Given the description of an element on the screen output the (x, y) to click on. 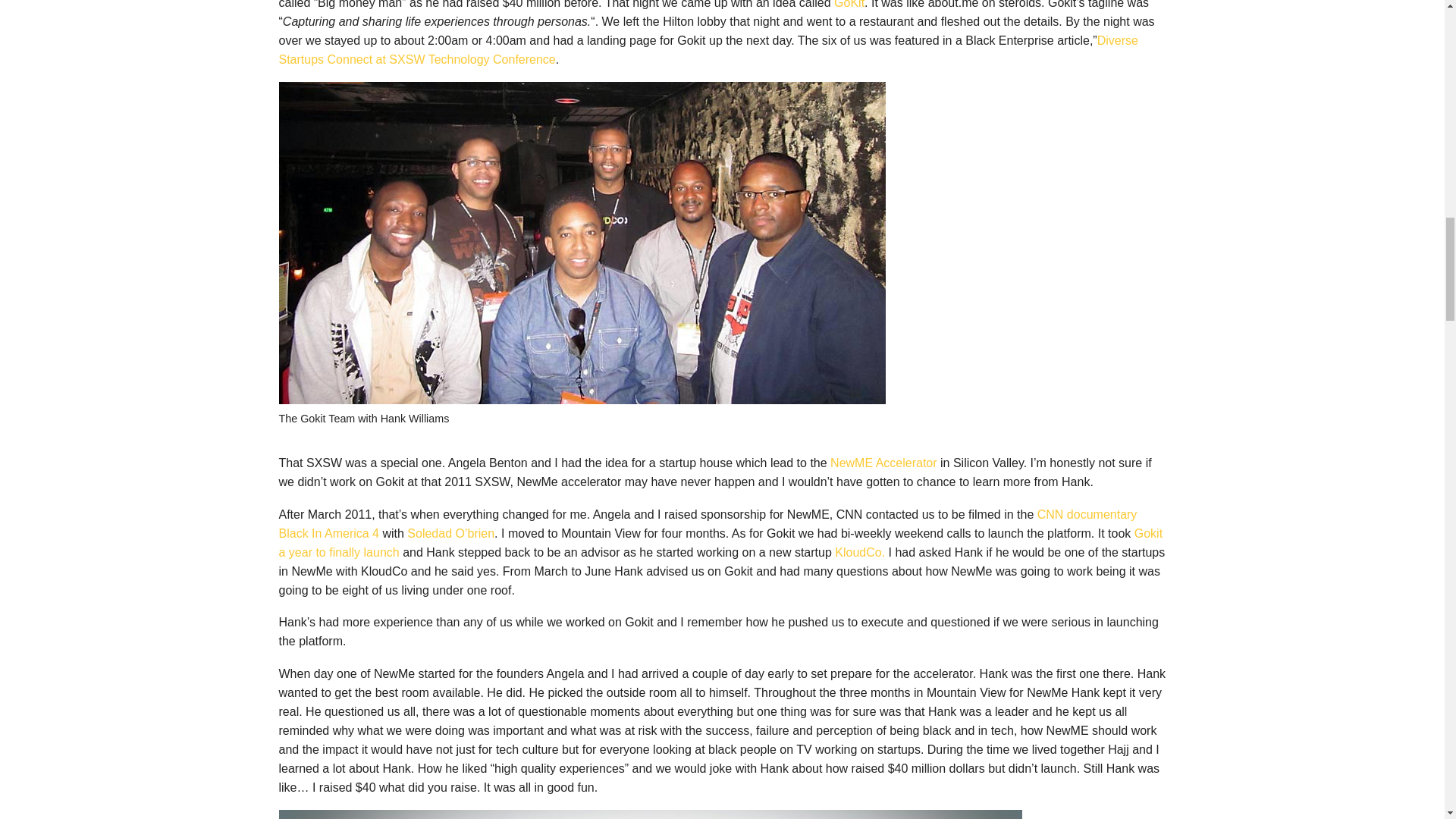
KloudCo. (859, 552)
Diverse Startups Connect at SXSW Technology Conference (708, 50)
Gokit a year to finally launch (721, 542)
NewME Accelerator (883, 462)
GoKit (849, 4)
CNN documentary Black In America 4 (708, 523)
